Given the description of an element on the screen output the (x, y) to click on. 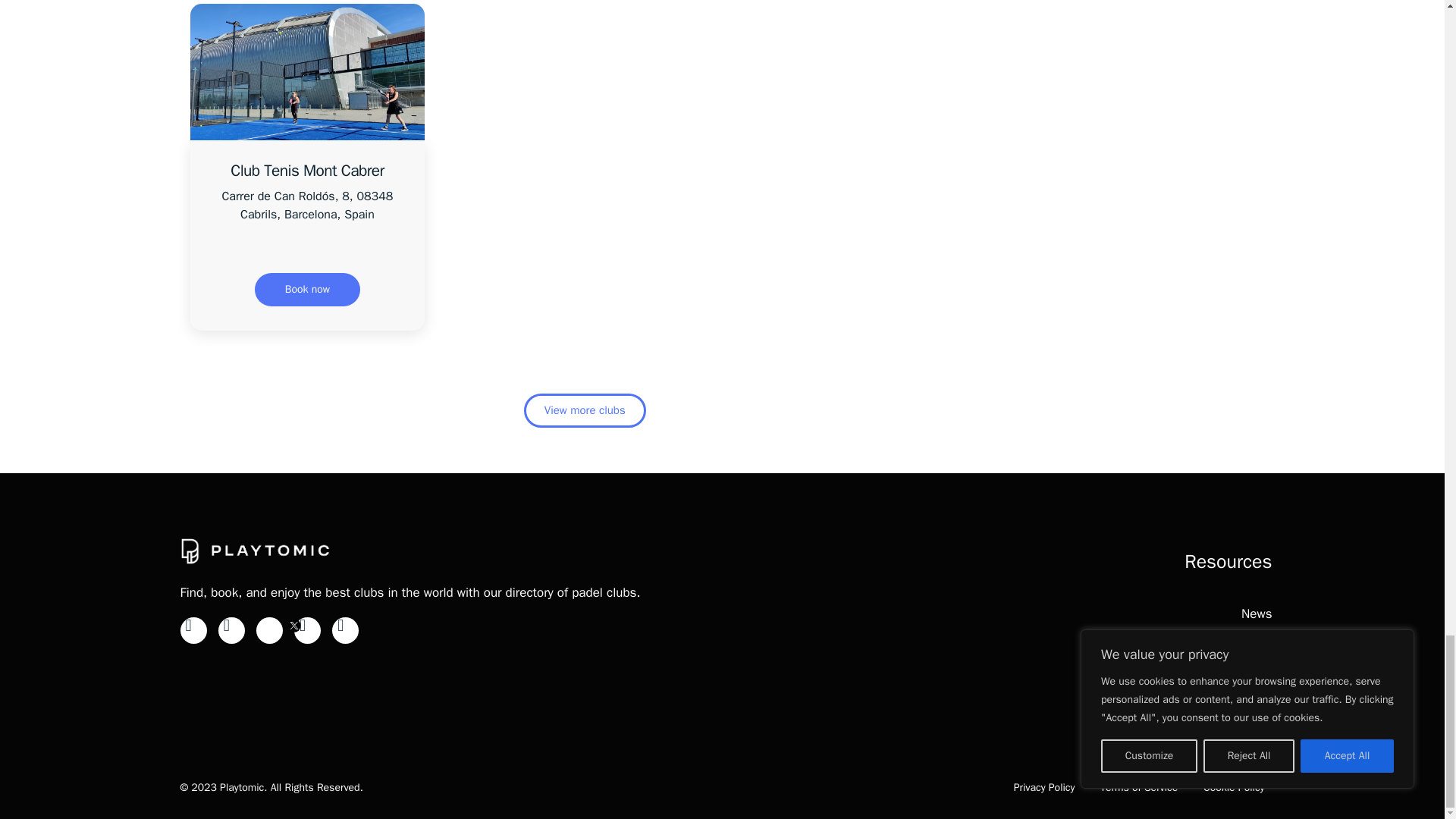
Book now (306, 289)
